Given the description of an element on the screen output the (x, y) to click on. 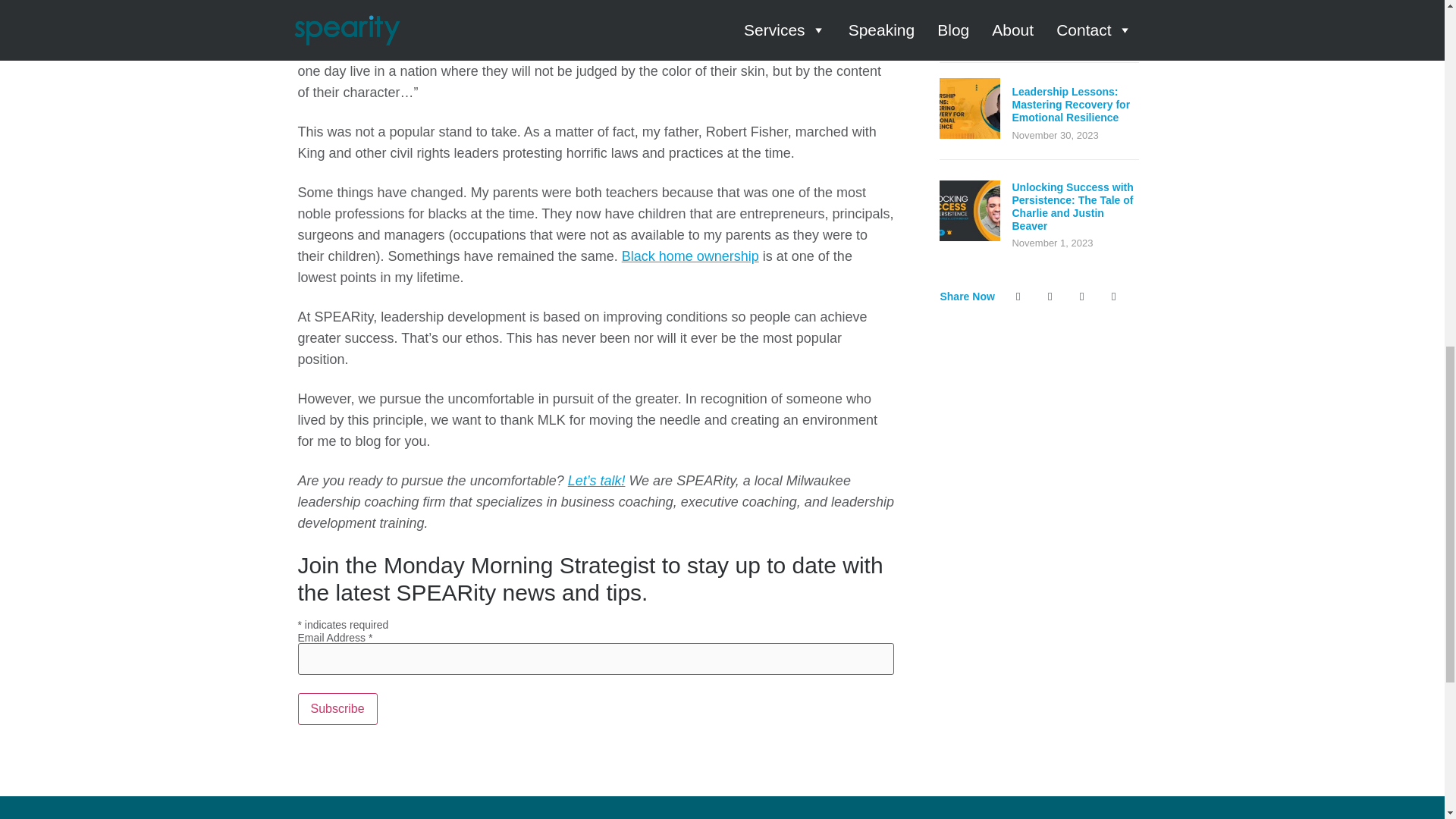
Black home ownership (689, 255)
Subscribe (337, 708)
Subscribe (337, 708)
